Given the description of an element on the screen output the (x, y) to click on. 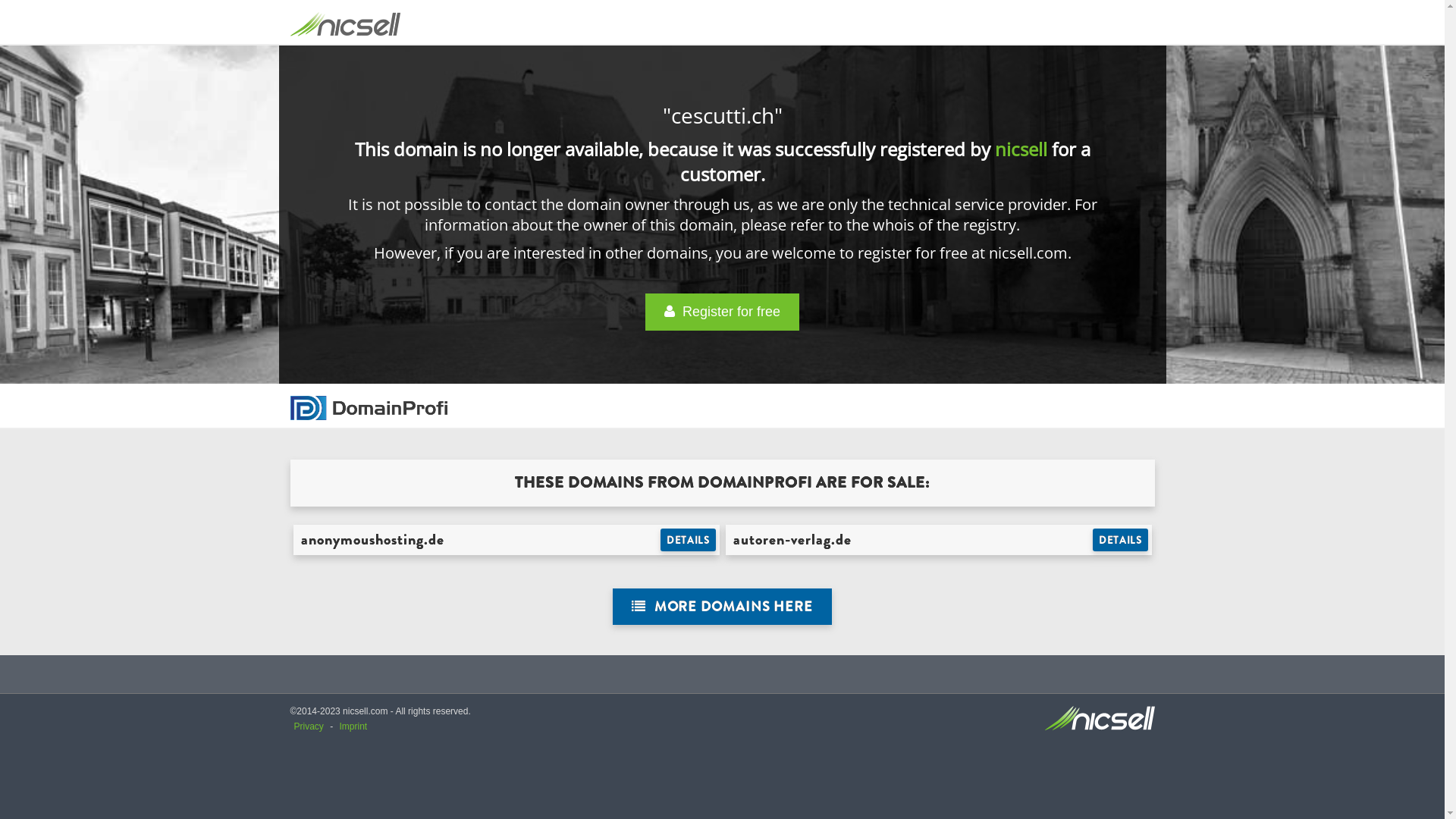
DETAILS Element type: text (1120, 539)
nicsell Element type: text (1020, 148)
Imprint Element type: text (353, 726)
Privacy Element type: text (308, 726)
  MORE DOMAINS HERE Element type: text (721, 606)
DETAILS Element type: text (687, 539)
  Register for free Element type: text (722, 311)
